Given the description of an element on the screen output the (x, y) to click on. 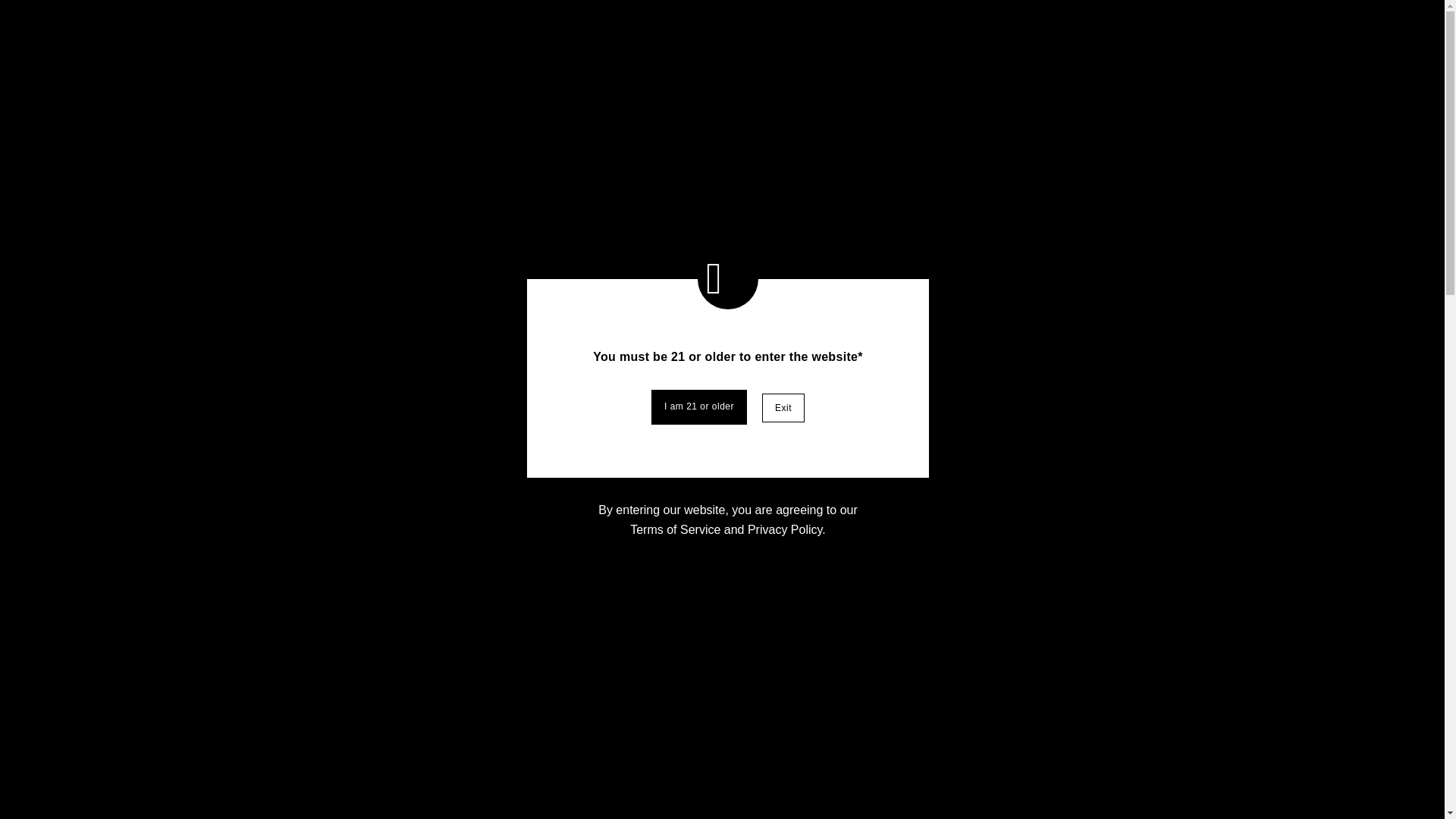
SHOP ONLINE (987, 277)
About Us (978, 325)
Wholesale (1120, 25)
hundredth Verano dispensary (669, 24)
Investors (822, 24)
Education (426, 783)
